Given the description of an element on the screen output the (x, y) to click on. 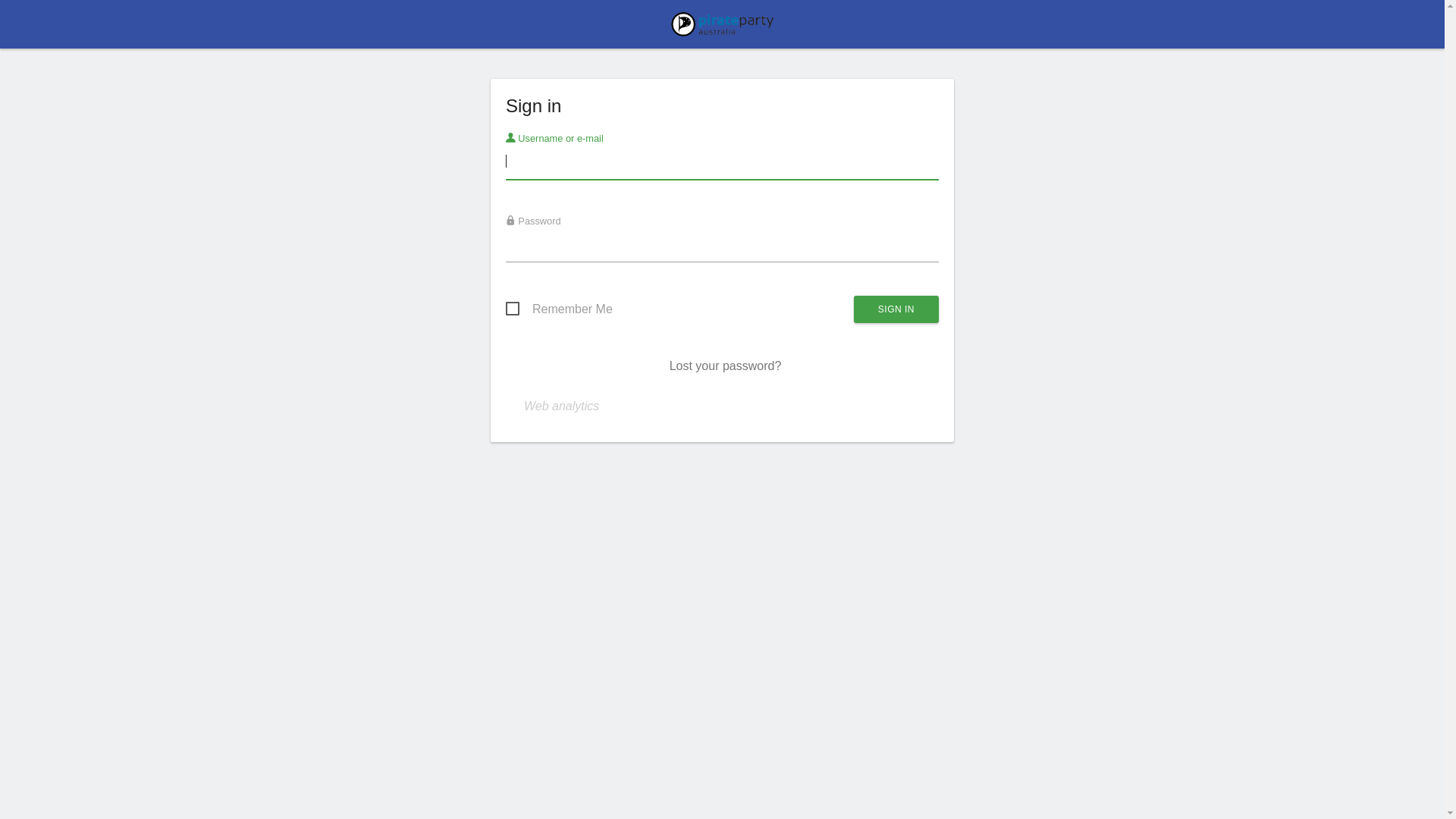
Sign in Element type: text (895, 309)
Powered by Matomo Element type: hover (722, 27)
Web analytics Element type: text (561, 405)
Lost your password? Element type: text (725, 365)
